Given the description of an element on the screen output the (x, y) to click on. 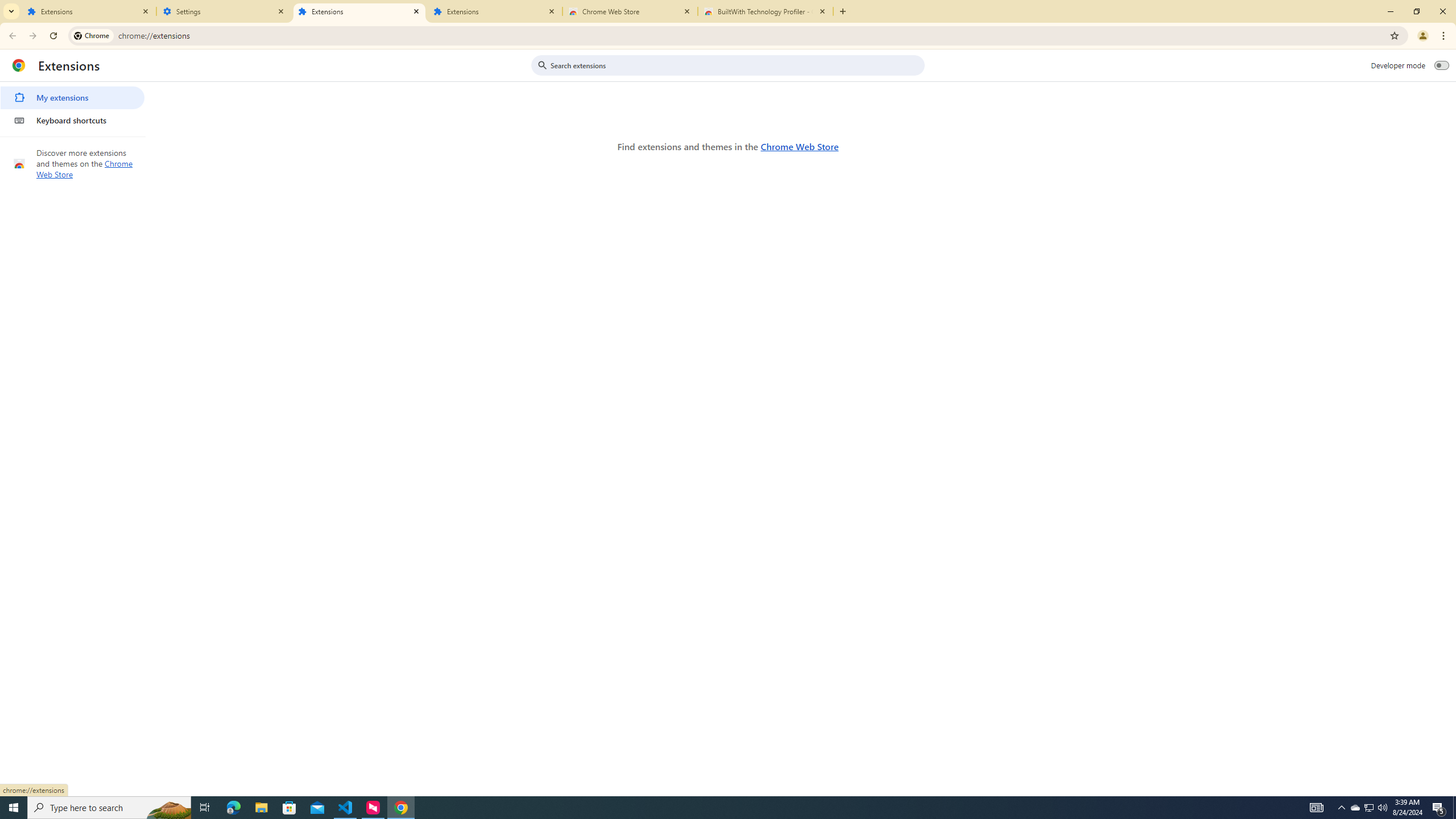
Settings (224, 11)
Extensions (88, 11)
Search extensions (735, 65)
Extensions (494, 11)
My extensions (72, 97)
Chrome Web Store (630, 11)
Chrome Web Store (799, 146)
Keyboard shortcuts (72, 119)
